Given the description of an element on the screen output the (x, y) to click on. 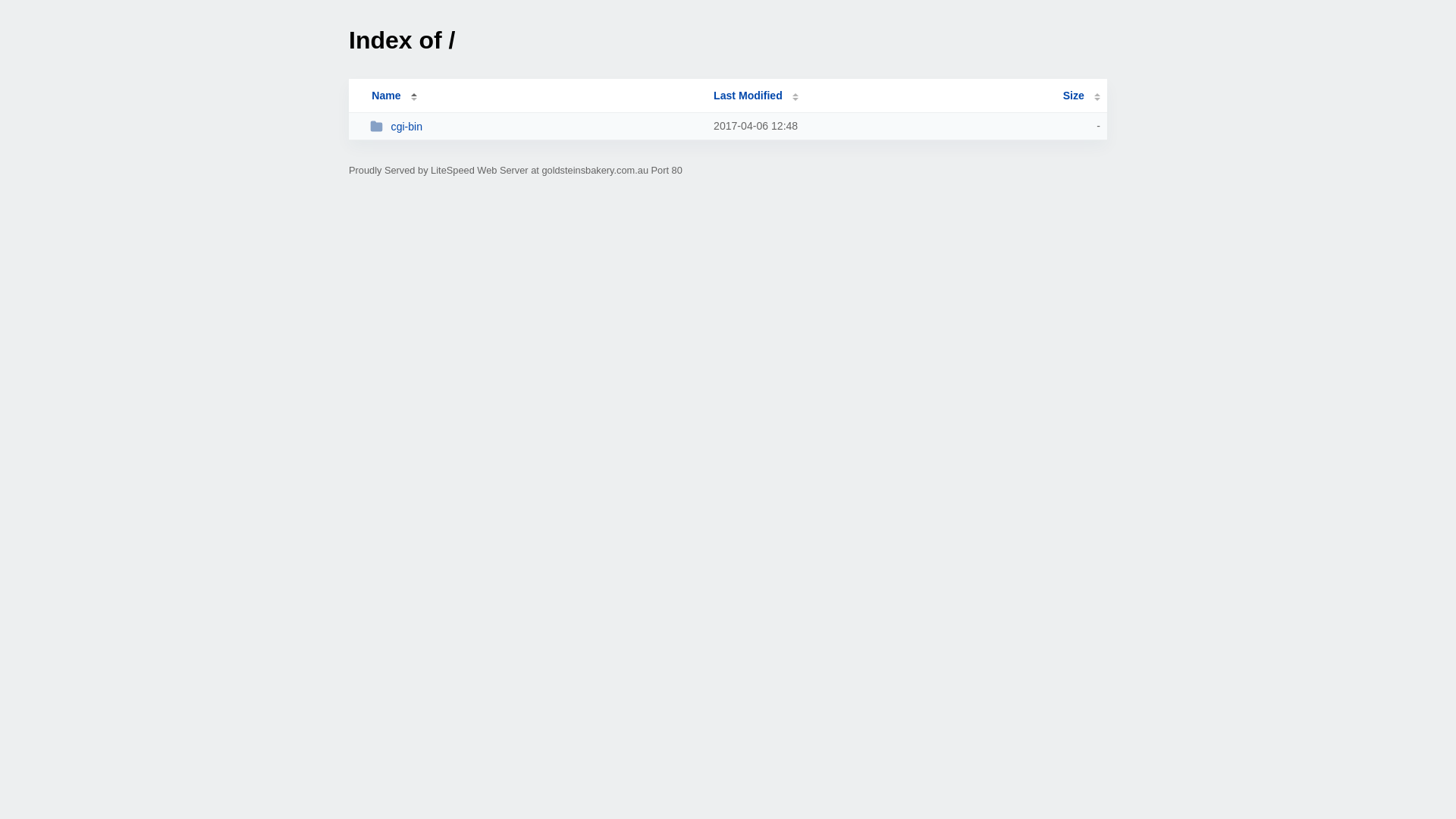
cgi-bin Element type: text (534, 125)
Last Modified Element type: text (755, 95)
Name Element type: text (385, 95)
Size Element type: text (1081, 95)
